Given the description of an element on the screen output the (x, y) to click on. 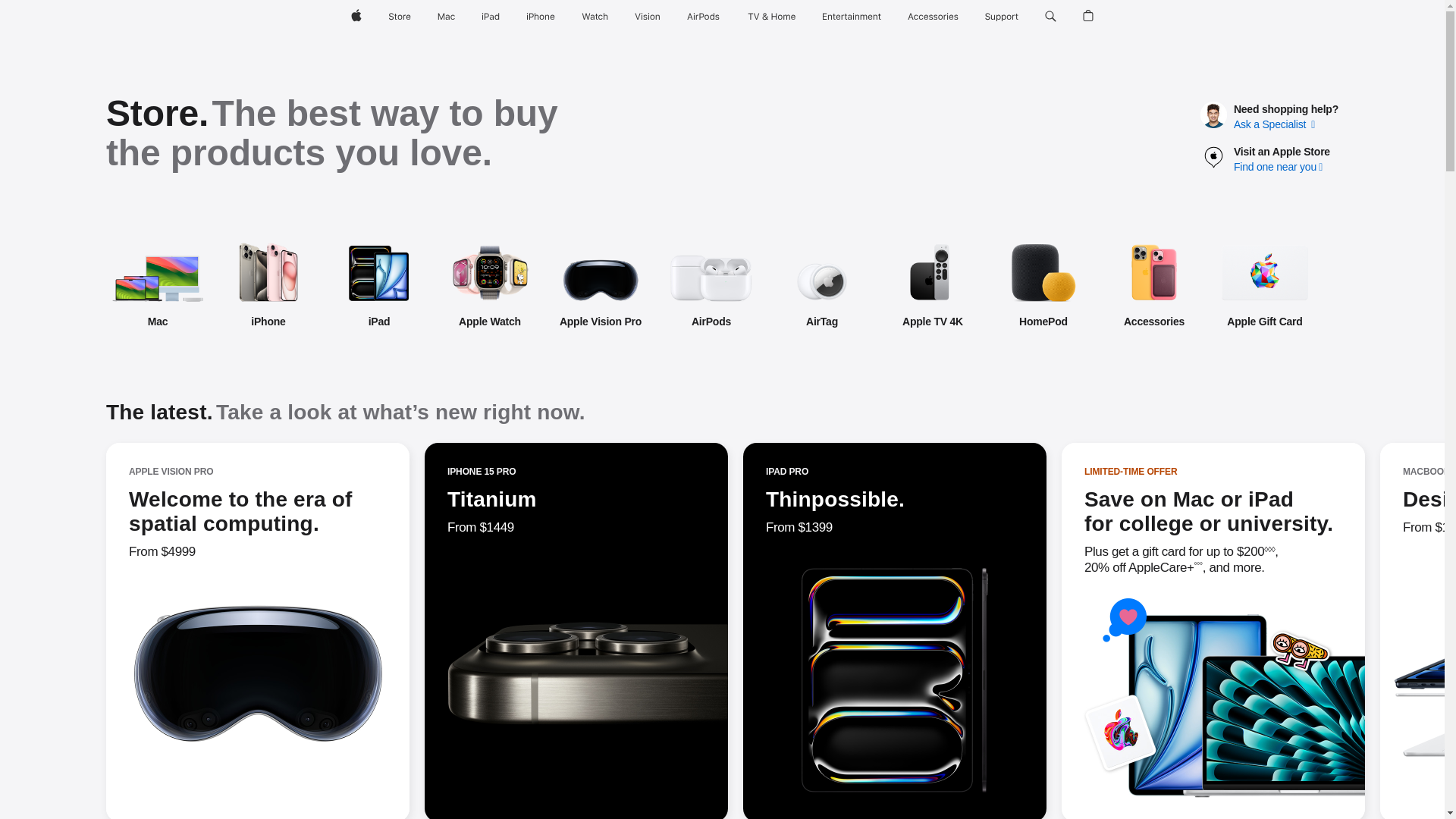
Apple Gift Card (1317, 285)
Accessories (1153, 285)
Apple Vision Pro (600, 285)
Apple TV 4K (932, 285)
iPad (378, 285)
iPhone (268, 285)
Mac (157, 285)
AirTag (821, 285)
AirPods (710, 285)
Apple Watch (489, 285)
